Given the description of an element on the screen output the (x, y) to click on. 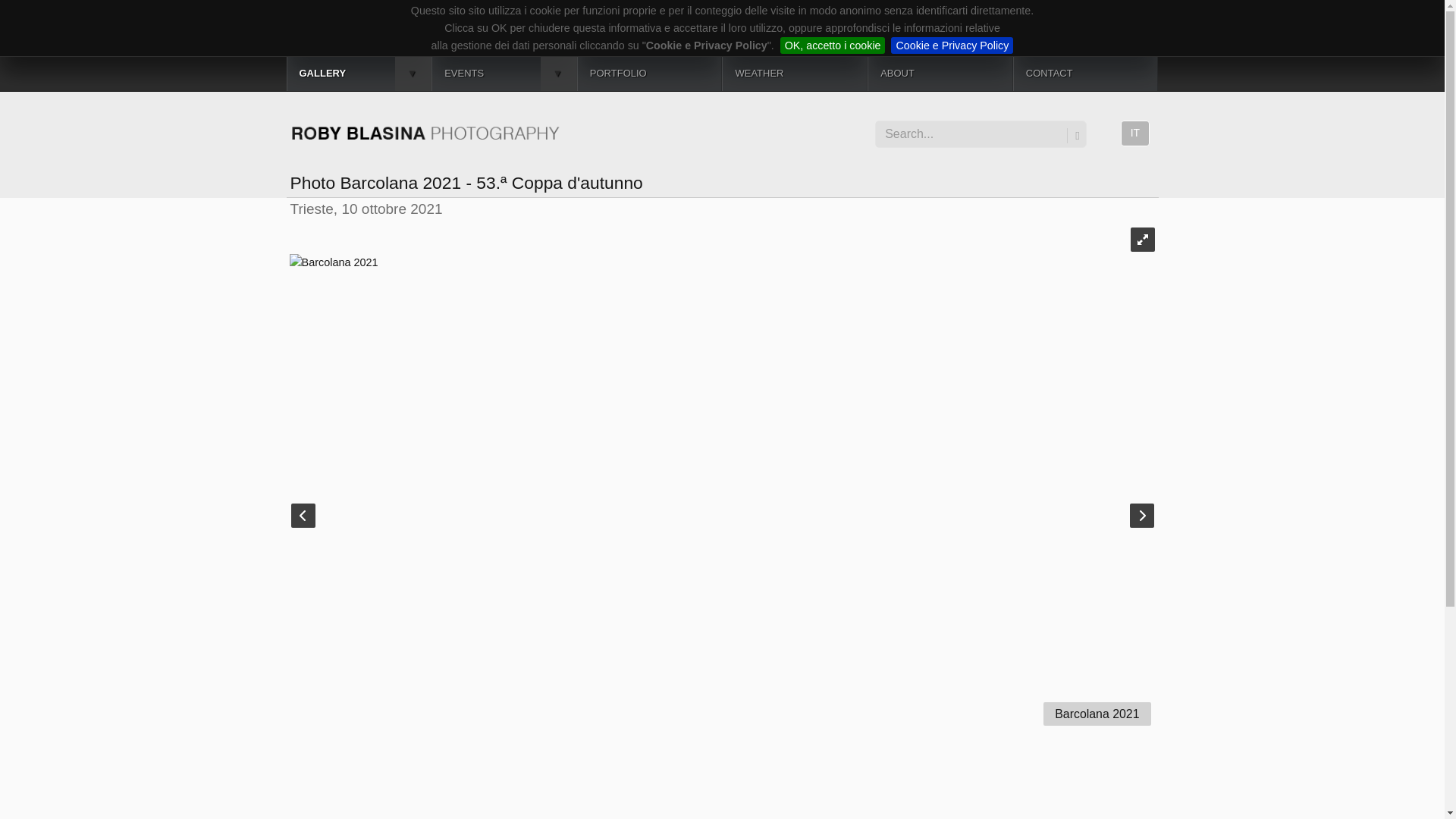
EVENTS (503, 73)
GALLERY (359, 73)
Sailing yachting regattas (359, 73)
Italiano (1135, 133)
Cookie e Privacy Policy (952, 45)
Home page (424, 126)
OK, accetto i cookie (832, 45)
Portfolio (649, 73)
About me (940, 73)
Top yachting races in the world (503, 73)
Contact (1085, 73)
Weather forecast (794, 73)
